Given the description of an element on the screen output the (x, y) to click on. 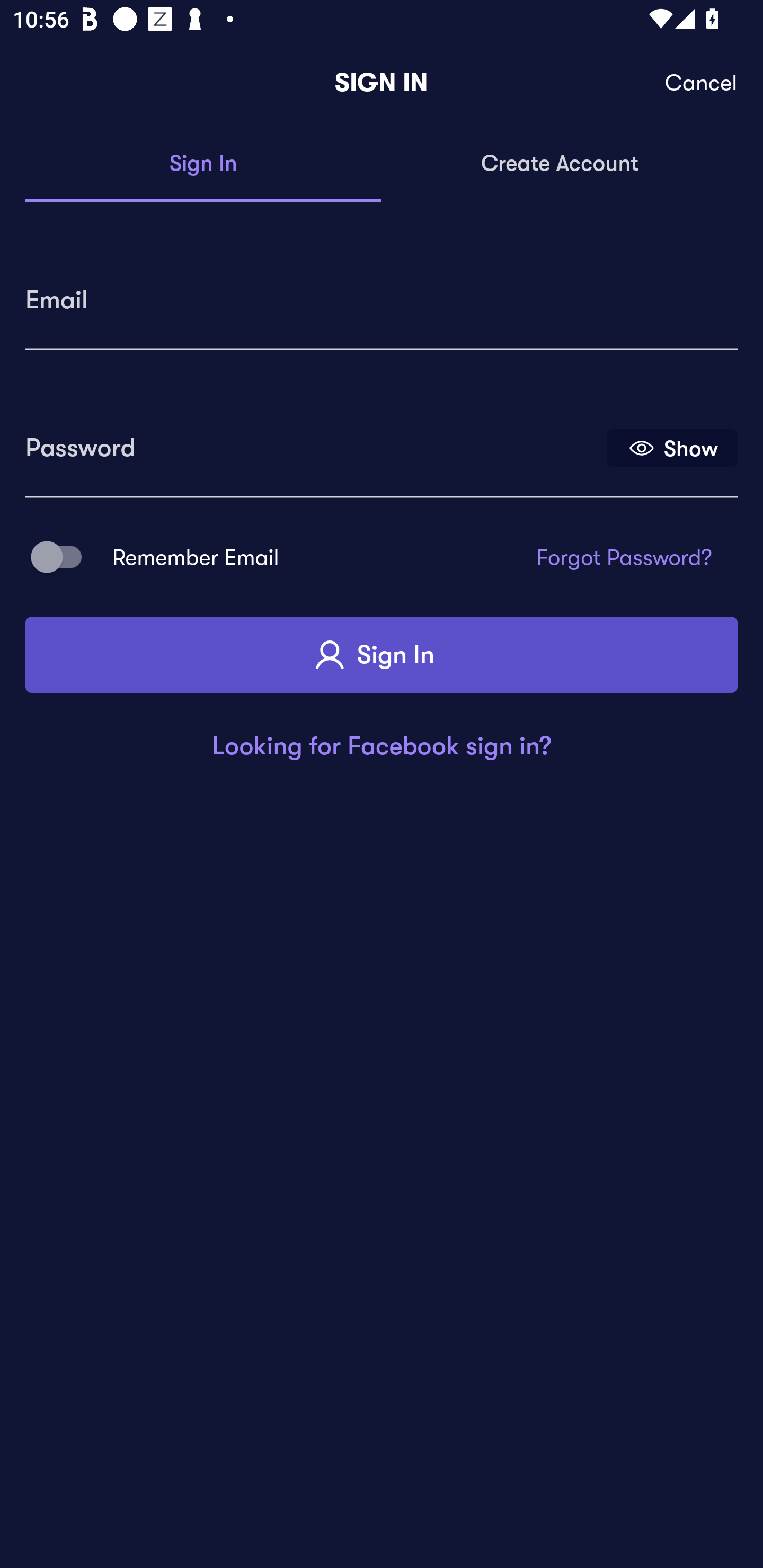
Cancel (701, 82)
Sign In (203, 164)
Create Account (559, 164)
Email (381, 293)
Password (314, 441)
Show Password Show (671, 447)
Remember Email (62, 557)
Sign In (381, 654)
